Given the description of an element on the screen output the (x, y) to click on. 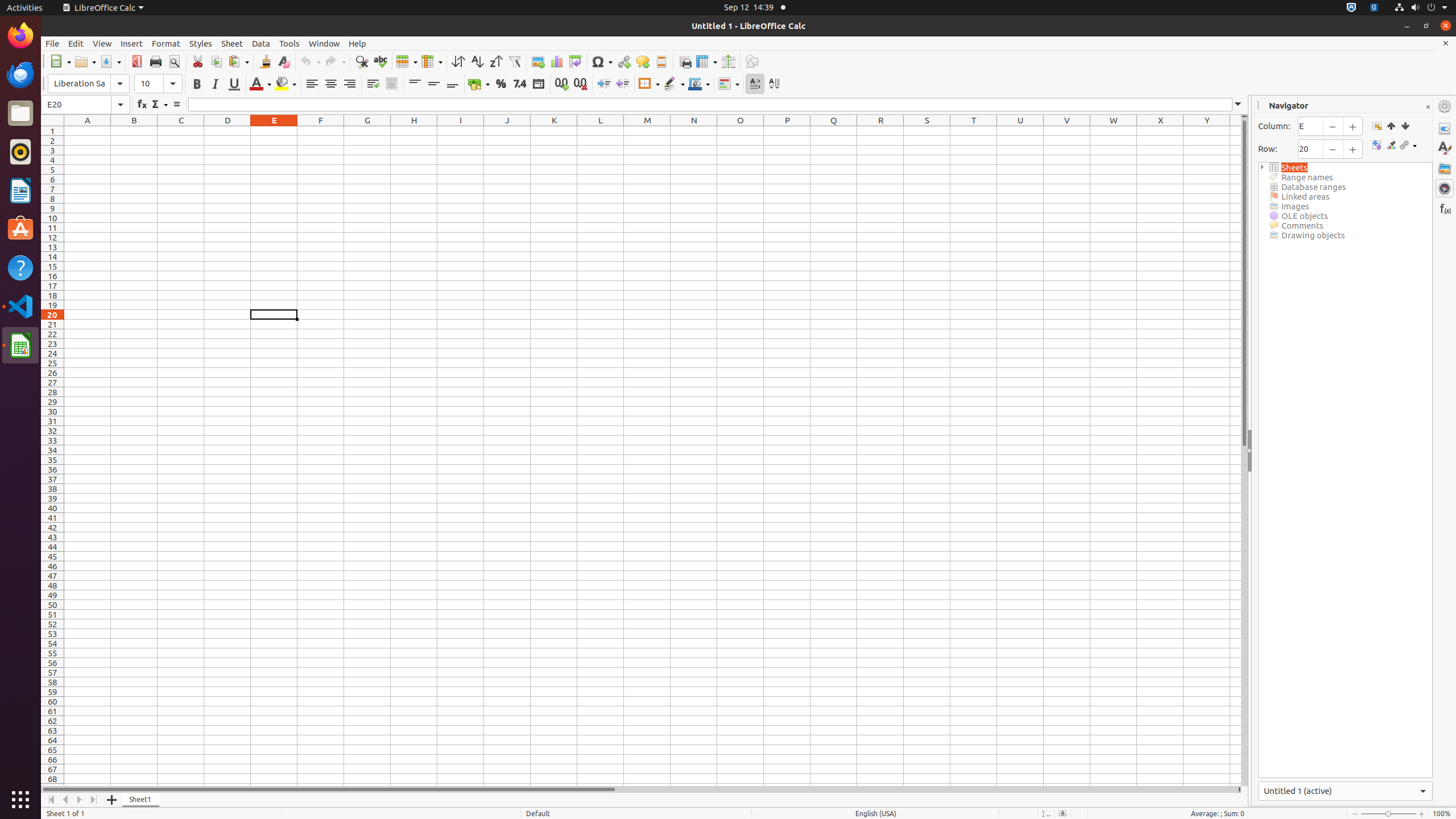
E1 Element type: table-cell (273, 130)
Show Applications Element type: toggle-button (20, 799)
Hyperlink Element type: toggle-button (623, 61)
PDF Element type: push-button (136, 61)
